Given the description of an element on the screen output the (x, y) to click on. 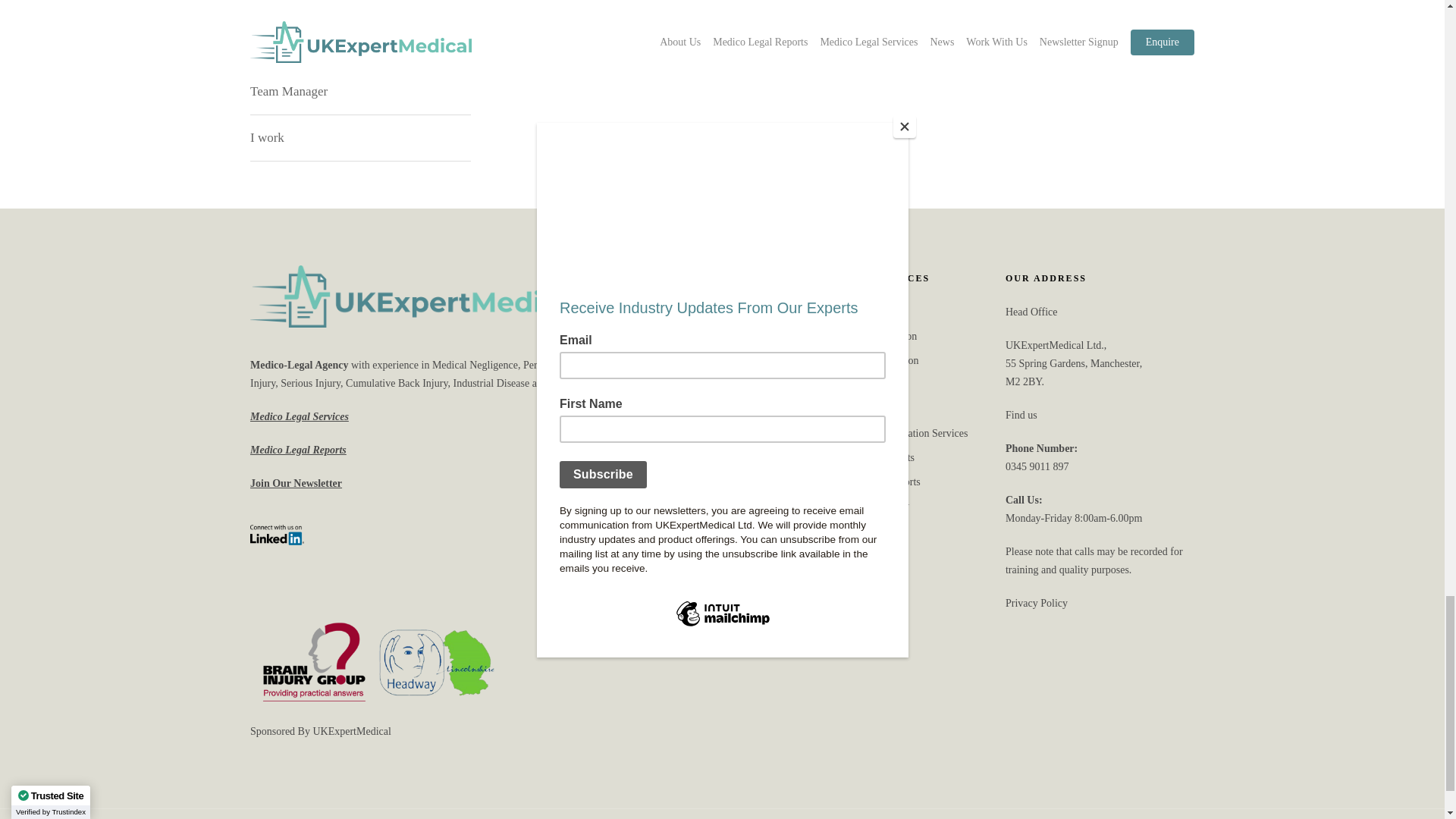
Alex Pett (360, 17)
